Given the description of an element on the screen output the (x, y) to click on. 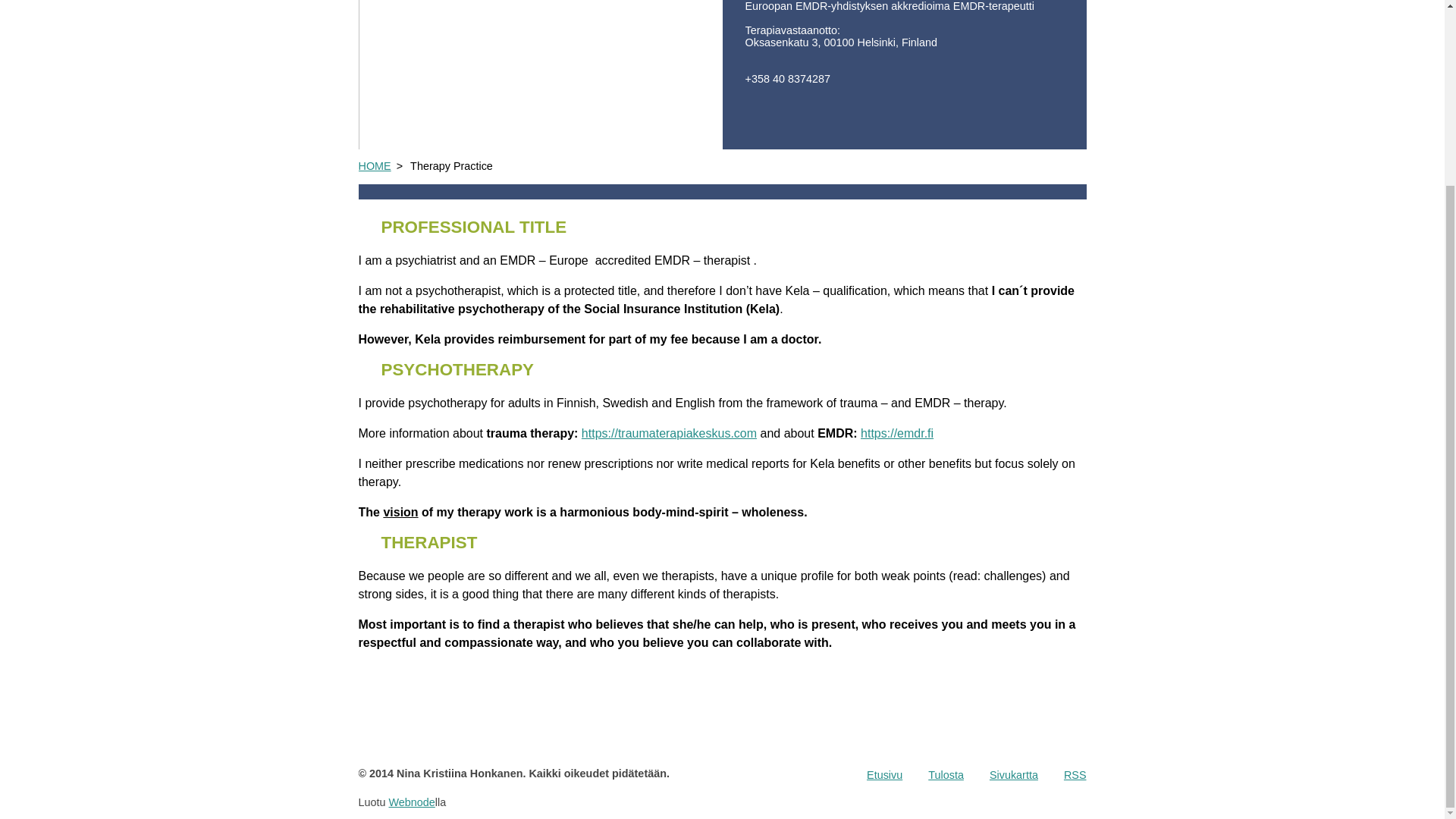
Webnode (411, 802)
Tulosta (945, 775)
Siirry sivukarttaan (1014, 775)
Etusivulle (884, 775)
Tulosta sivu (945, 775)
Etusivu (884, 775)
Sivukartta (1014, 775)
HOME (374, 165)
RSS (1075, 775)
